Given the description of an element on the screen output the (x, y) to click on. 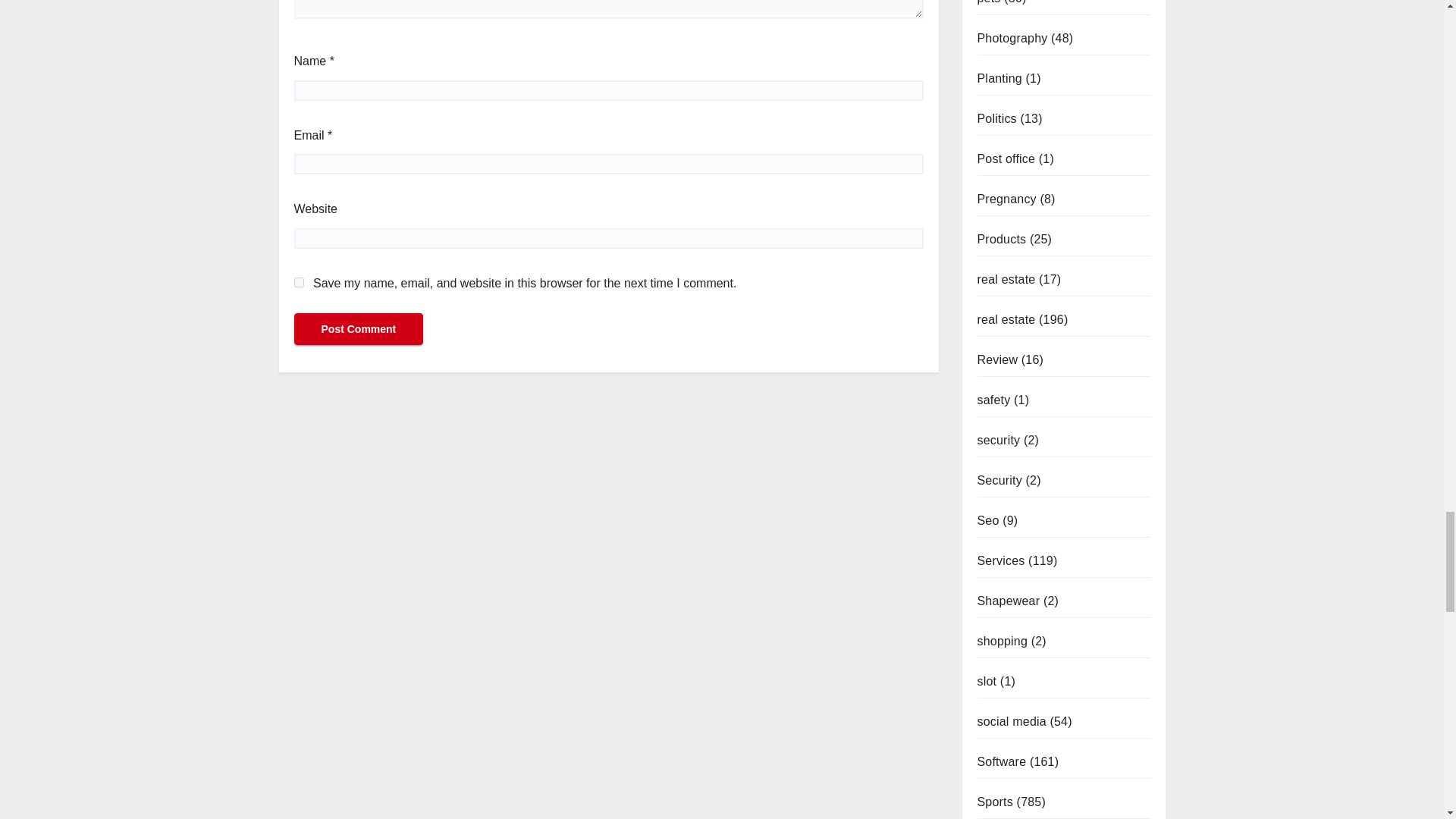
yes (299, 282)
Post Comment (358, 328)
